Given the description of an element on the screen output the (x, y) to click on. 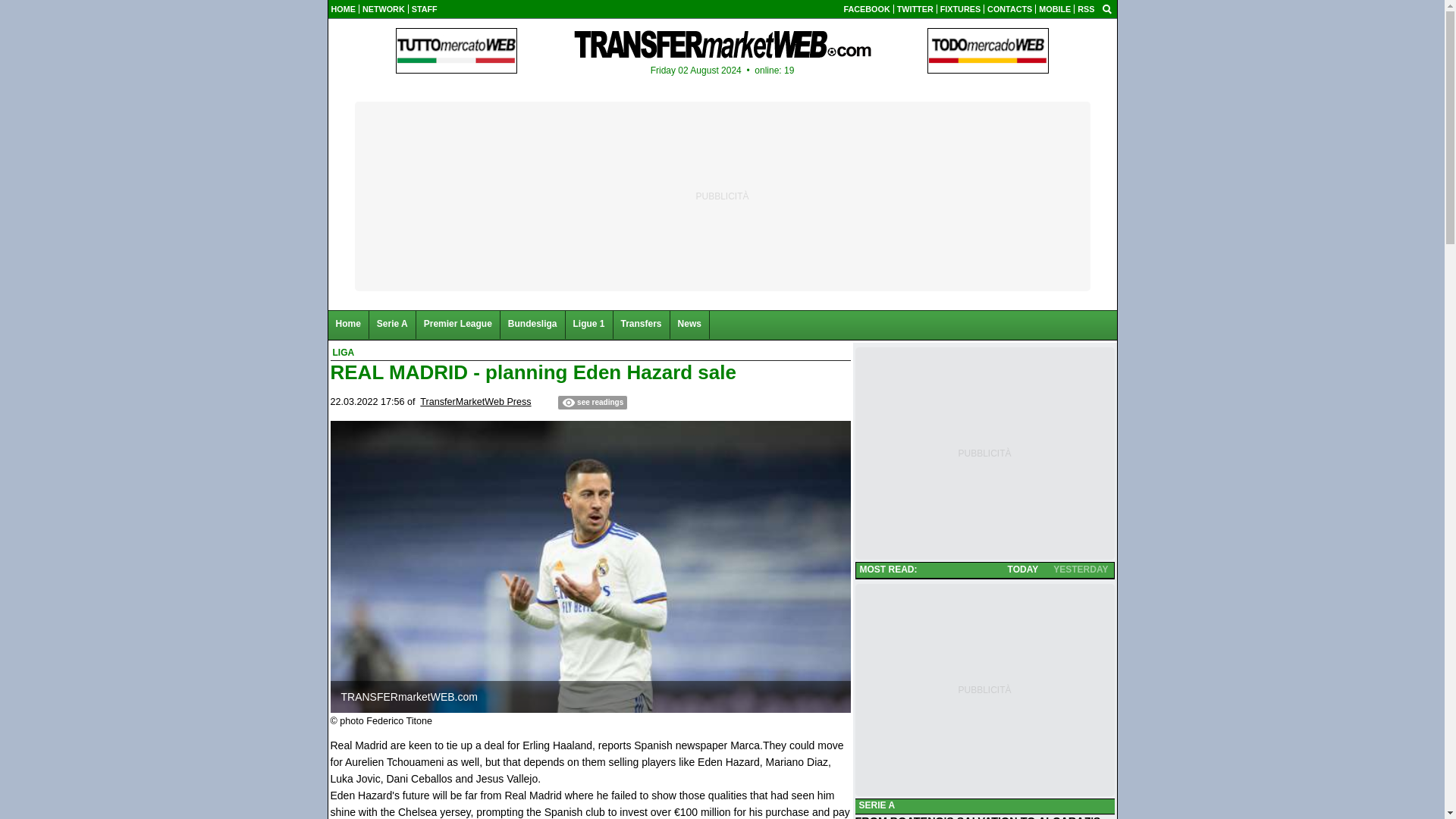
Ligue 1 (589, 325)
STAFF (425, 8)
News (689, 325)
News (689, 325)
Mobile (1054, 8)
Home (347, 325)
Premier League (458, 325)
MOBILE (1054, 8)
Bundesliga (533, 325)
FACEBOOK (866, 8)
